Given the description of an element on the screen output the (x, y) to click on. 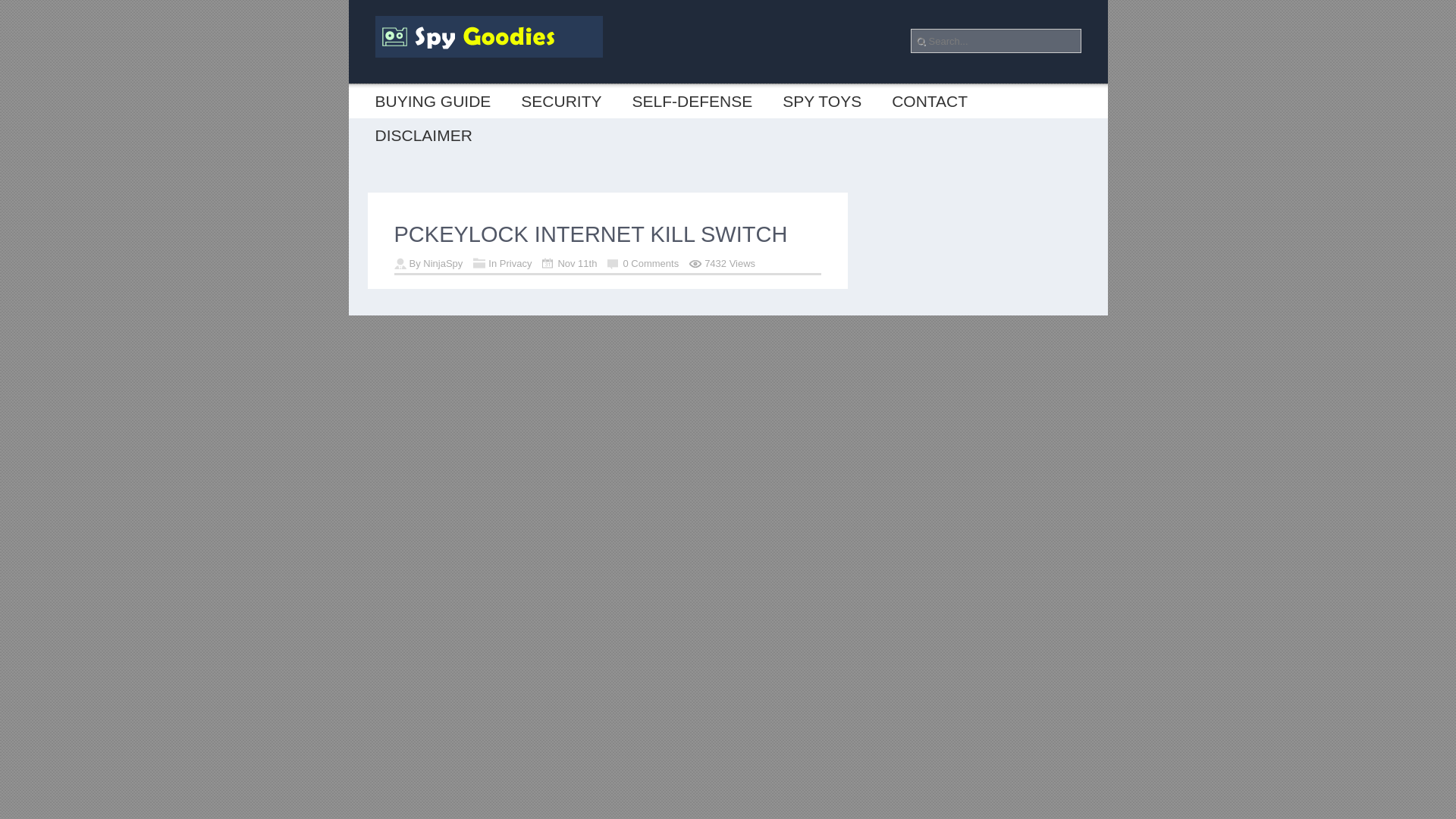
BUYING GUIDE (432, 100)
DISCLAIMER (422, 134)
SECURITY (560, 100)
